Given the description of an element on the screen output the (x, y) to click on. 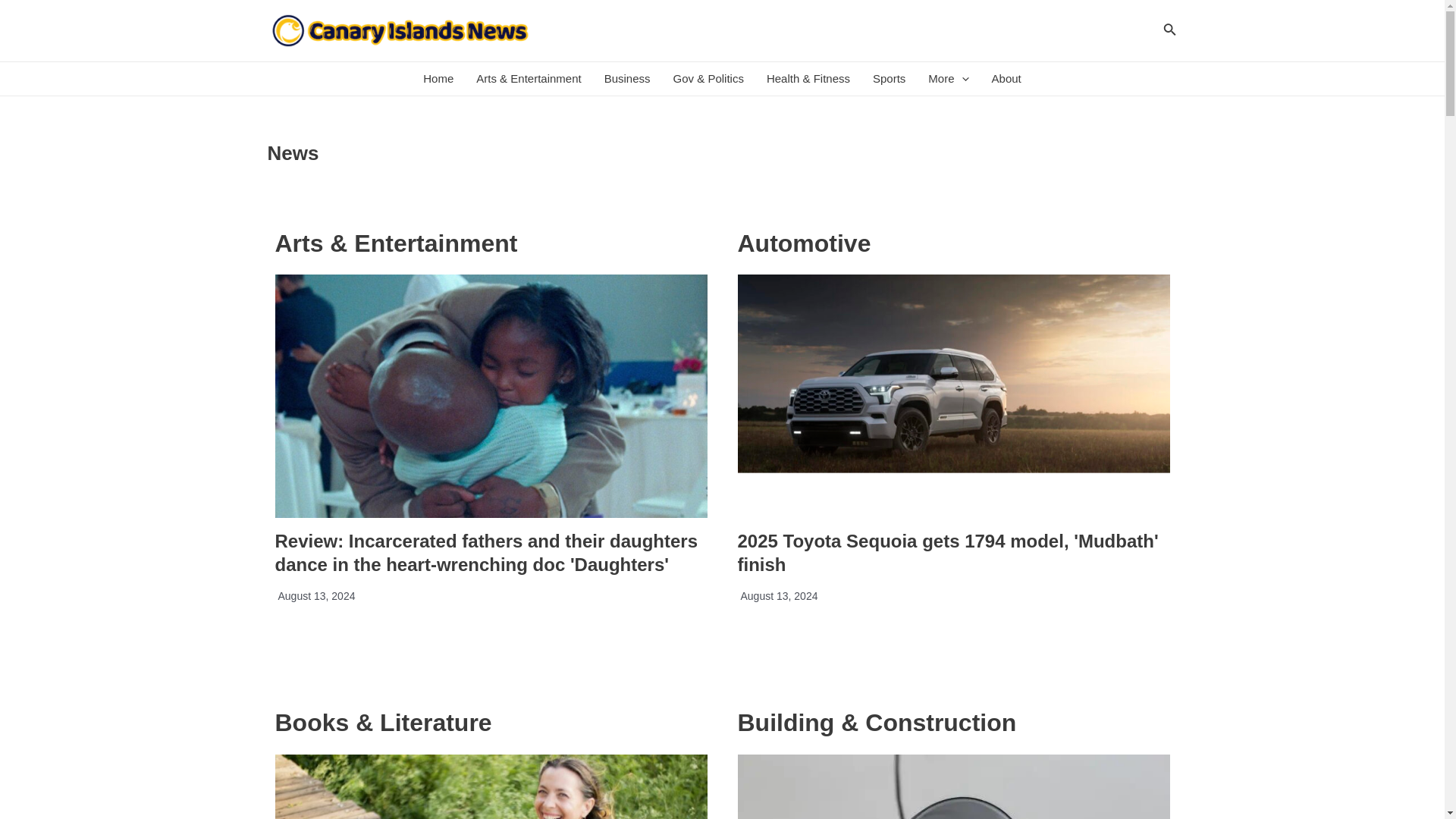
About (1005, 78)
Business (627, 78)
More (948, 78)
Home (438, 78)
Sports (889, 78)
